Given the description of an element on the screen output the (x, y) to click on. 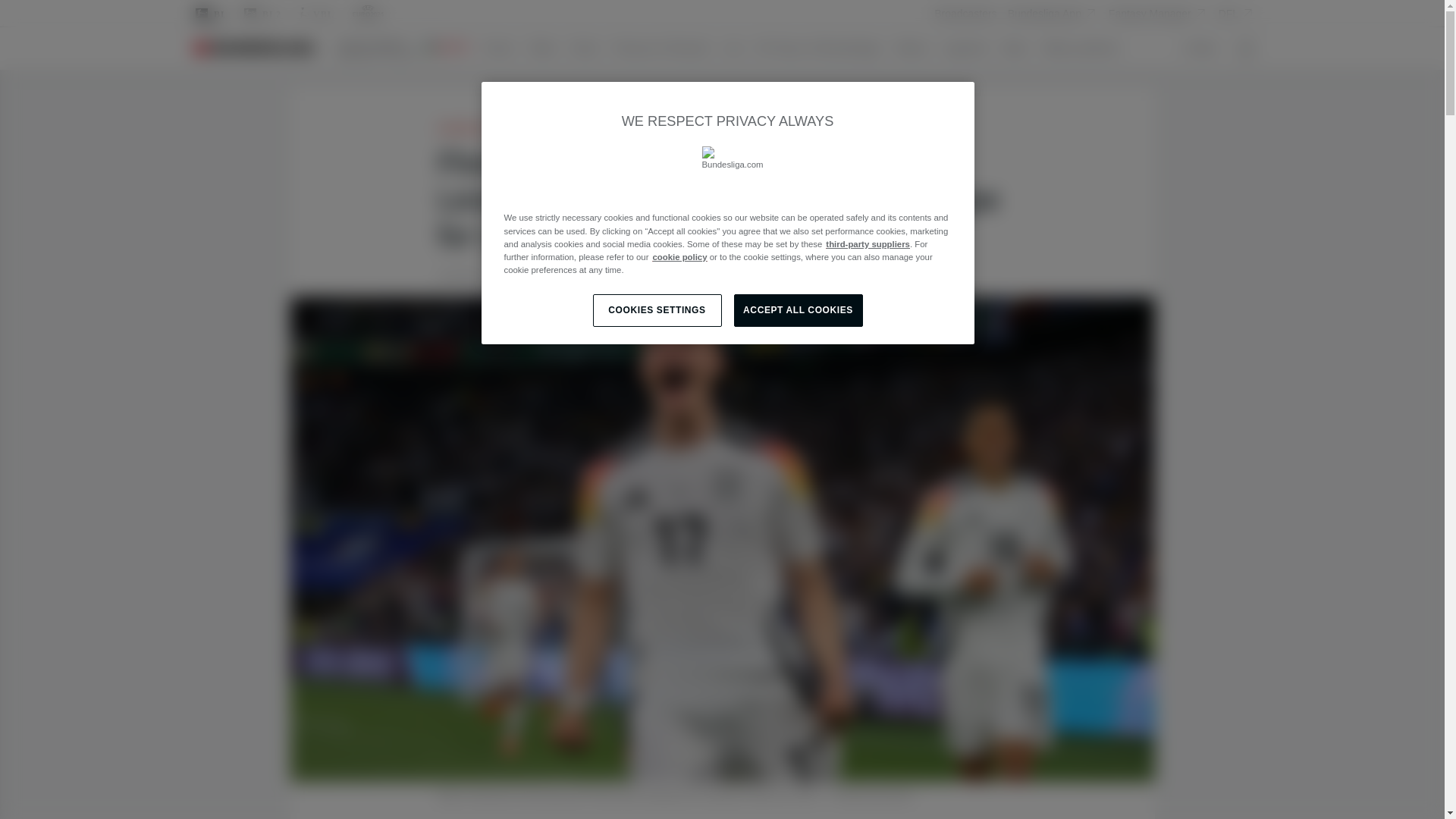
Fantasy Manager (1158, 13)
More (1203, 48)
Stats (1019, 48)
Fantasy Manager (1158, 13)
Legends (971, 48)
Table (547, 48)
Table predictor (1086, 48)
BL (208, 13)
Videos (917, 48)
Broadcasters (964, 13)
BL2 (261, 13)
Broadcasters (964, 13)
Bundesliga App (1052, 13)
DFL (1236, 13)
Bundesliga App (1052, 13)
